Given the description of an element on the screen output the (x, y) to click on. 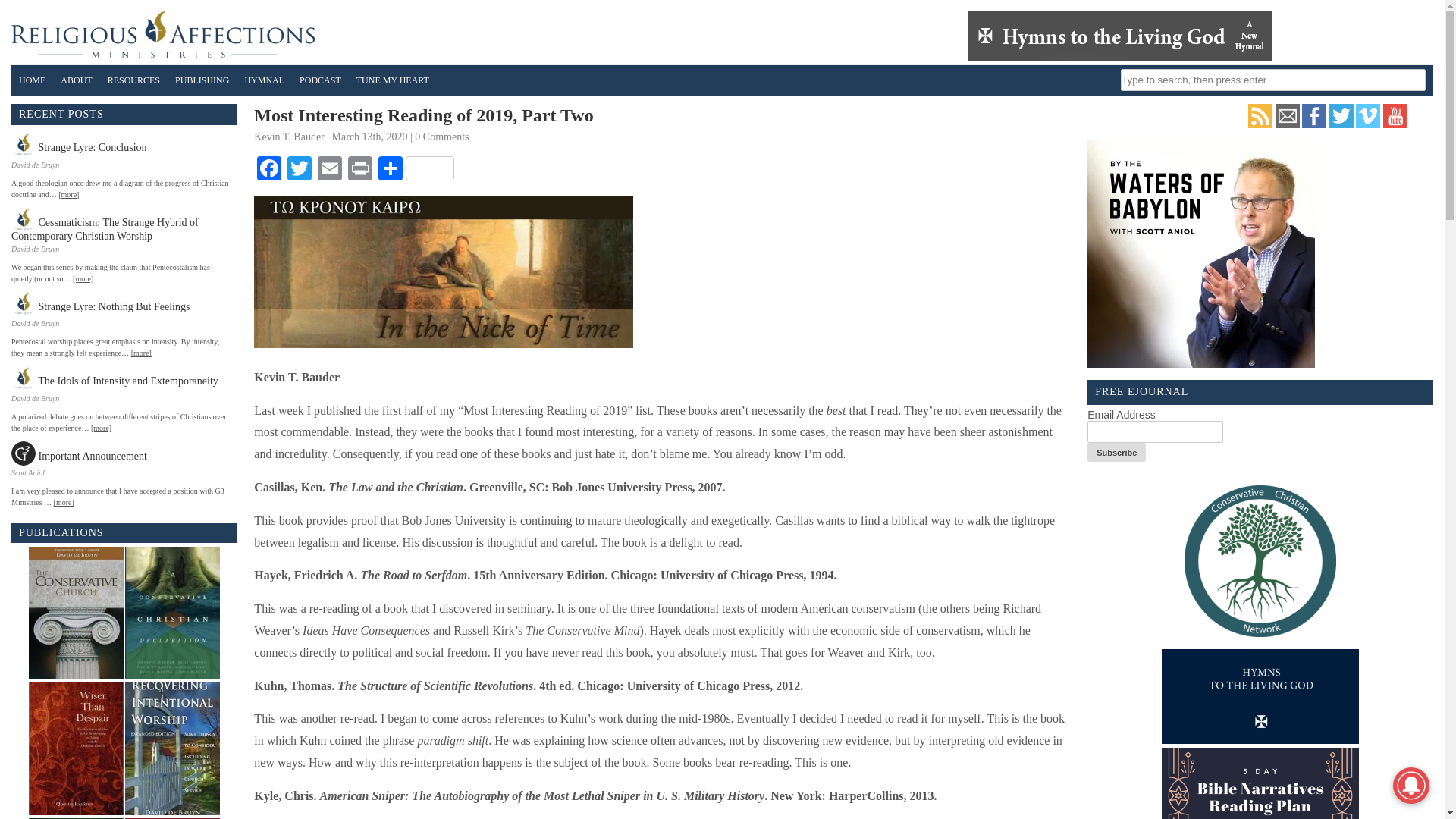
ABOUT (75, 80)
The Idols of Intensity and Extemporaneity (118, 378)
View all posts by David de Bruyn (35, 164)
PODCAST (320, 80)
Search (23, 10)
Print (360, 170)
HOME (31, 80)
TUNE MY HEART (392, 80)
View all posts by David de Bruyn (35, 323)
Twitter (298, 170)
Go to: Strange Lyre: Nothing But Feelings (103, 303)
Go to: Important Announcement (82, 453)
PUBLISHING (201, 80)
Strange Lyre: Nothing But Feelings (103, 303)
View all posts by David de Bruyn (35, 248)
